Given the description of an element on the screen output the (x, y) to click on. 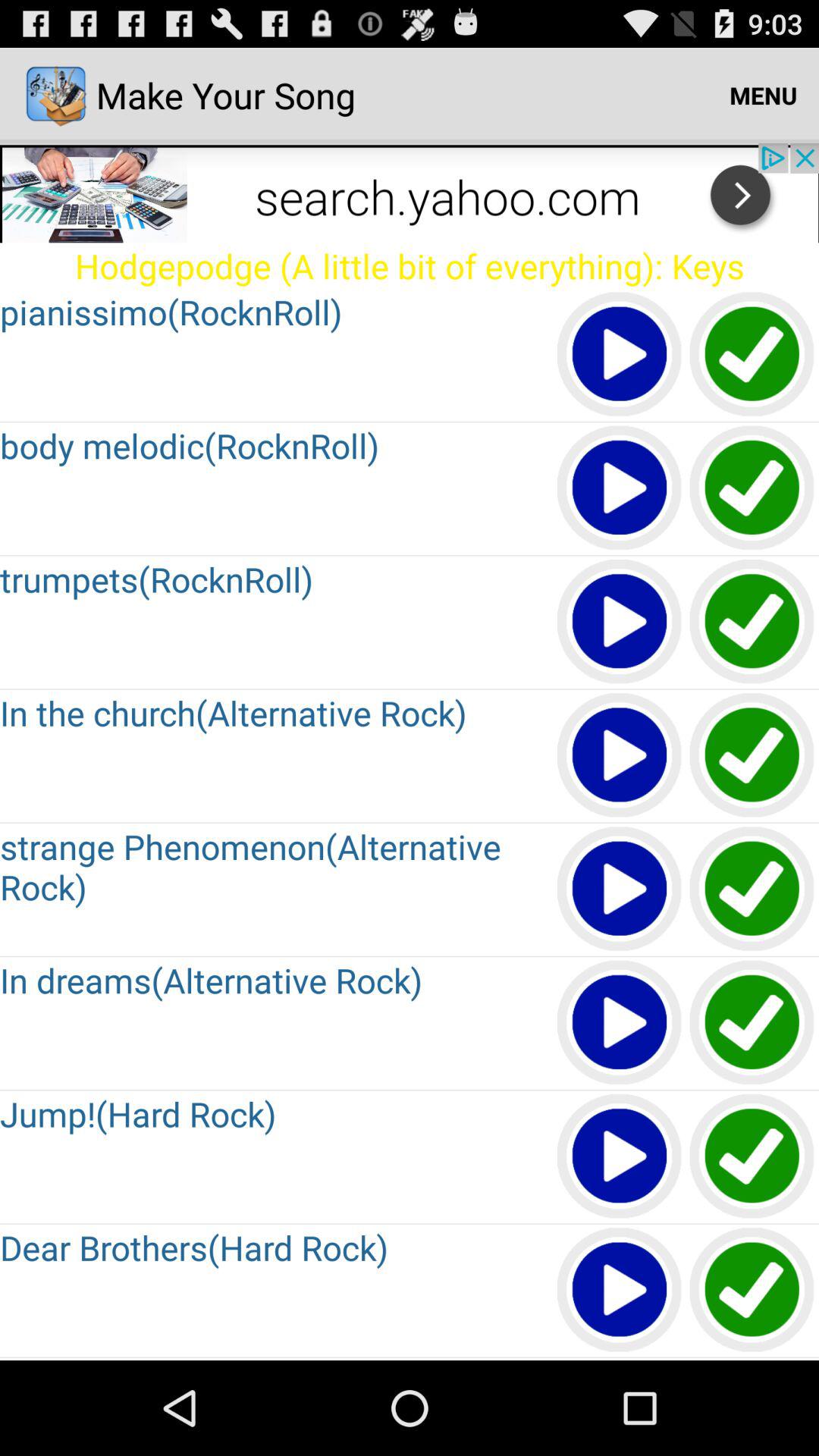
select option (752, 622)
